Given the description of an element on the screen output the (x, y) to click on. 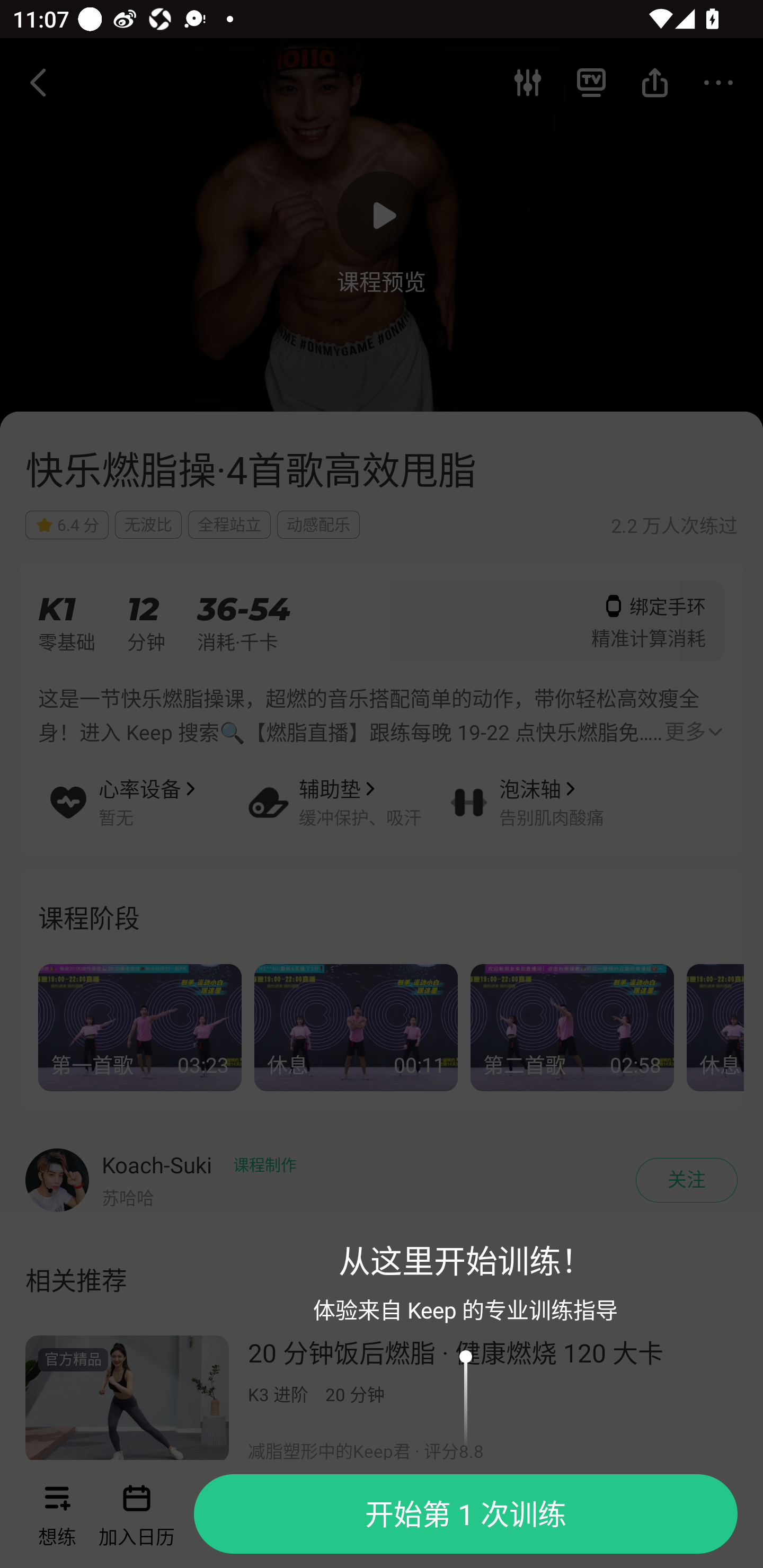
开始第 1 次训练 (469, 1513)
